Given the description of an element on the screen output the (x, y) to click on. 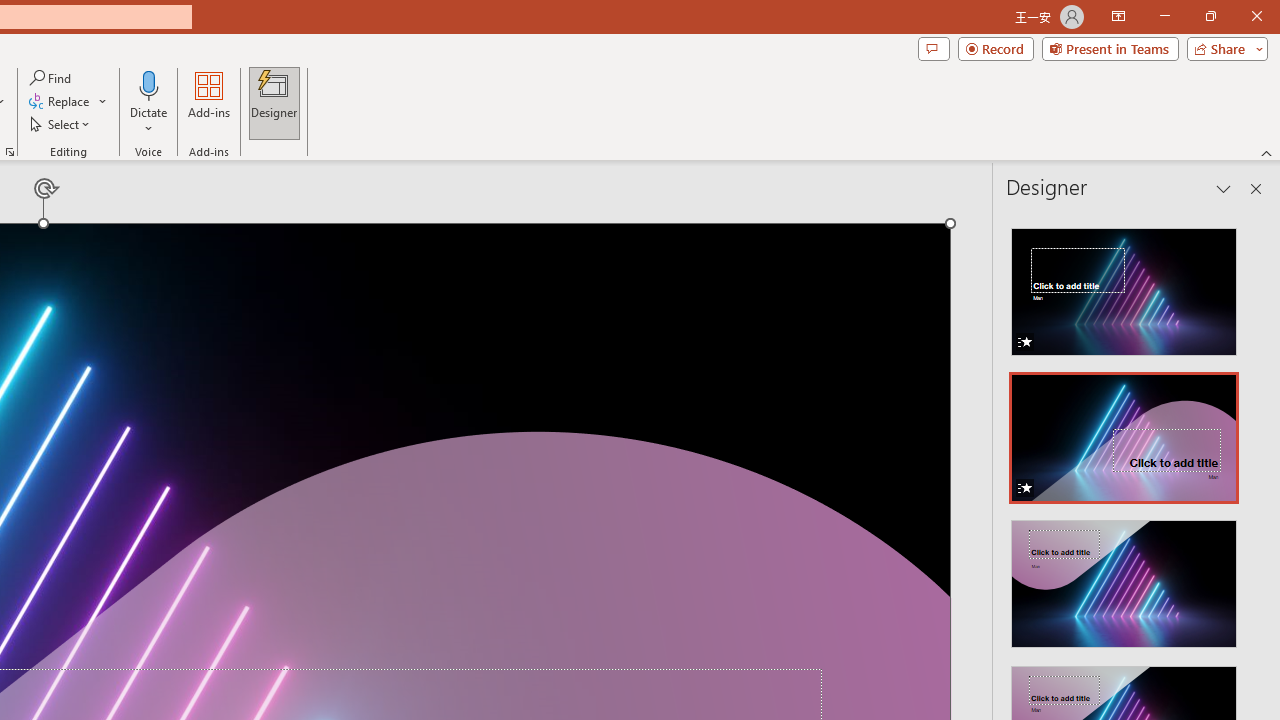
Design Idea with Animation (1124, 431)
